Given the description of an element on the screen output the (x, y) to click on. 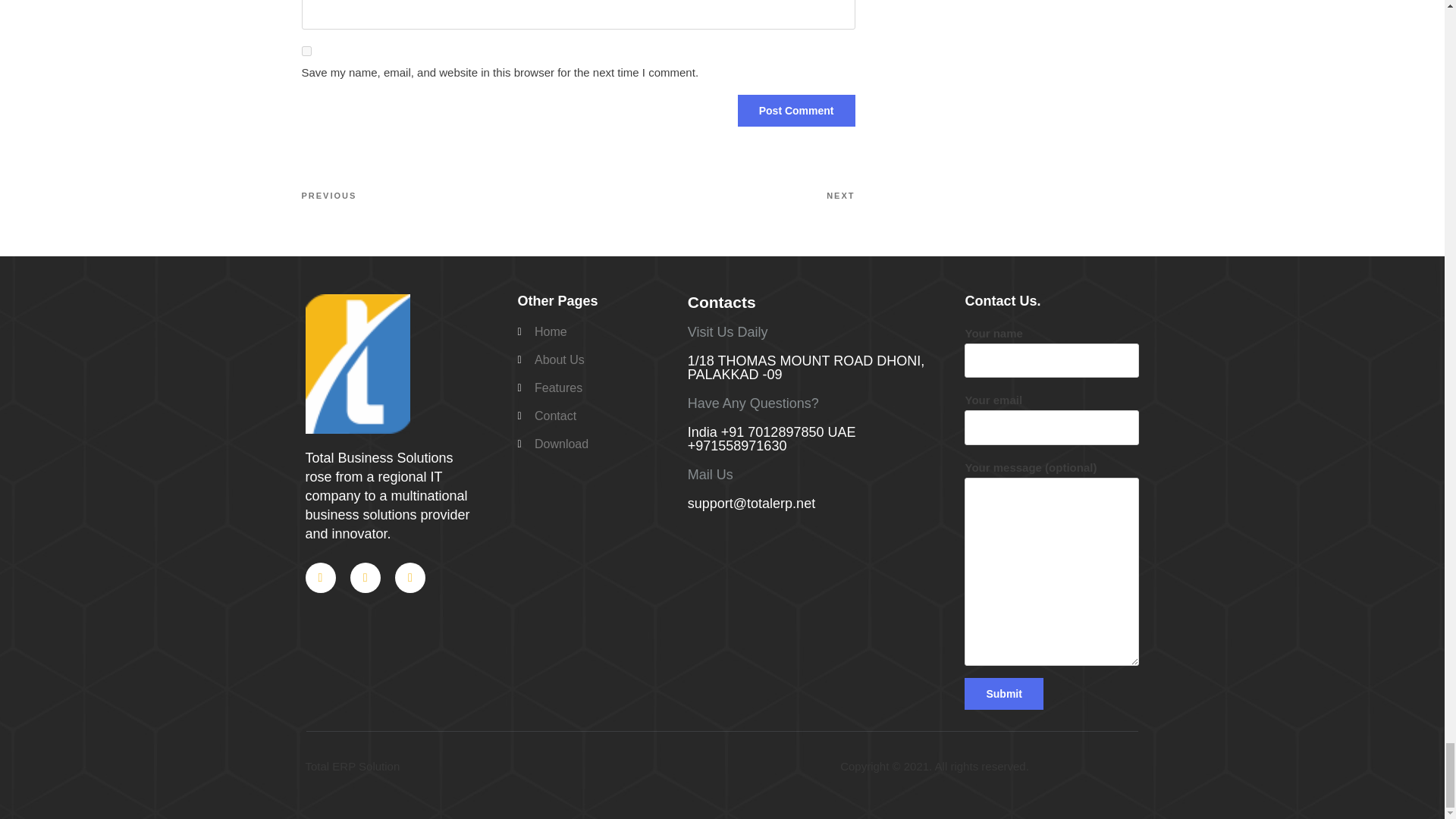
NEXT (716, 195)
Post Comment (797, 110)
Submit (1002, 694)
About Us (593, 360)
Submit (1002, 694)
Contact (593, 416)
Post Comment (797, 110)
Features (593, 388)
Home (593, 331)
yes (306, 50)
Download (593, 443)
PREVIOUS (439, 195)
